Given the description of an element on the screen output the (x, y) to click on. 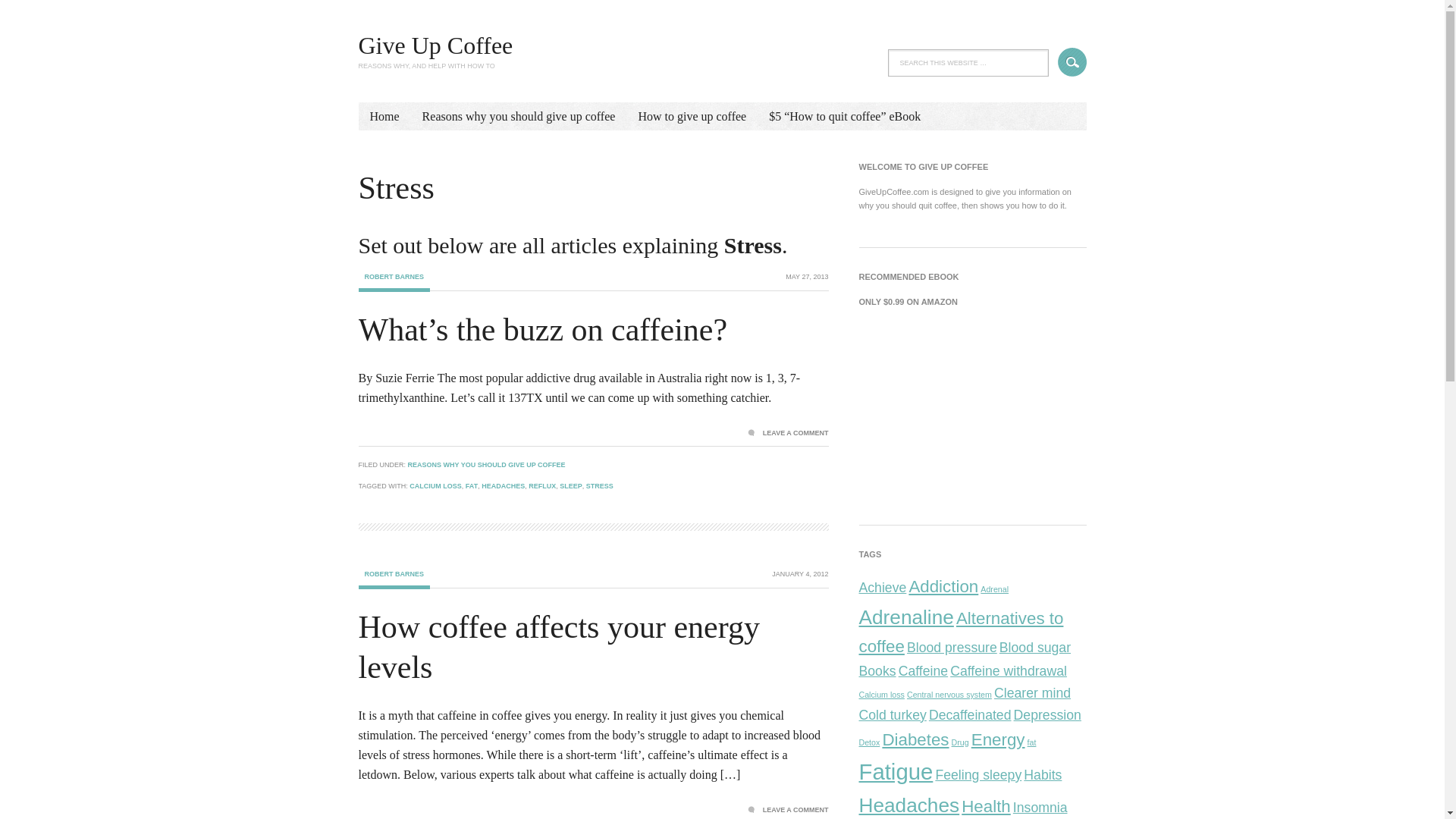
REFLUX (542, 485)
SLEEP (570, 485)
How coffee affects your energy levels (558, 646)
HEADACHES (502, 485)
ROBERT BARNES (393, 281)
Give Up Coffee (435, 44)
Home (384, 116)
Reasons why you should give up coffee (518, 116)
LEAVE A COMMENT (788, 432)
How to give up coffee (691, 116)
ROBERT BARNES (393, 579)
CALCIUM LOSS (435, 485)
LEAVE A COMMENT (788, 809)
REASONS WHY YOU SHOULD GIVE UP COFFEE (486, 464)
FAT (471, 485)
